Given the description of an element on the screen output the (x, y) to click on. 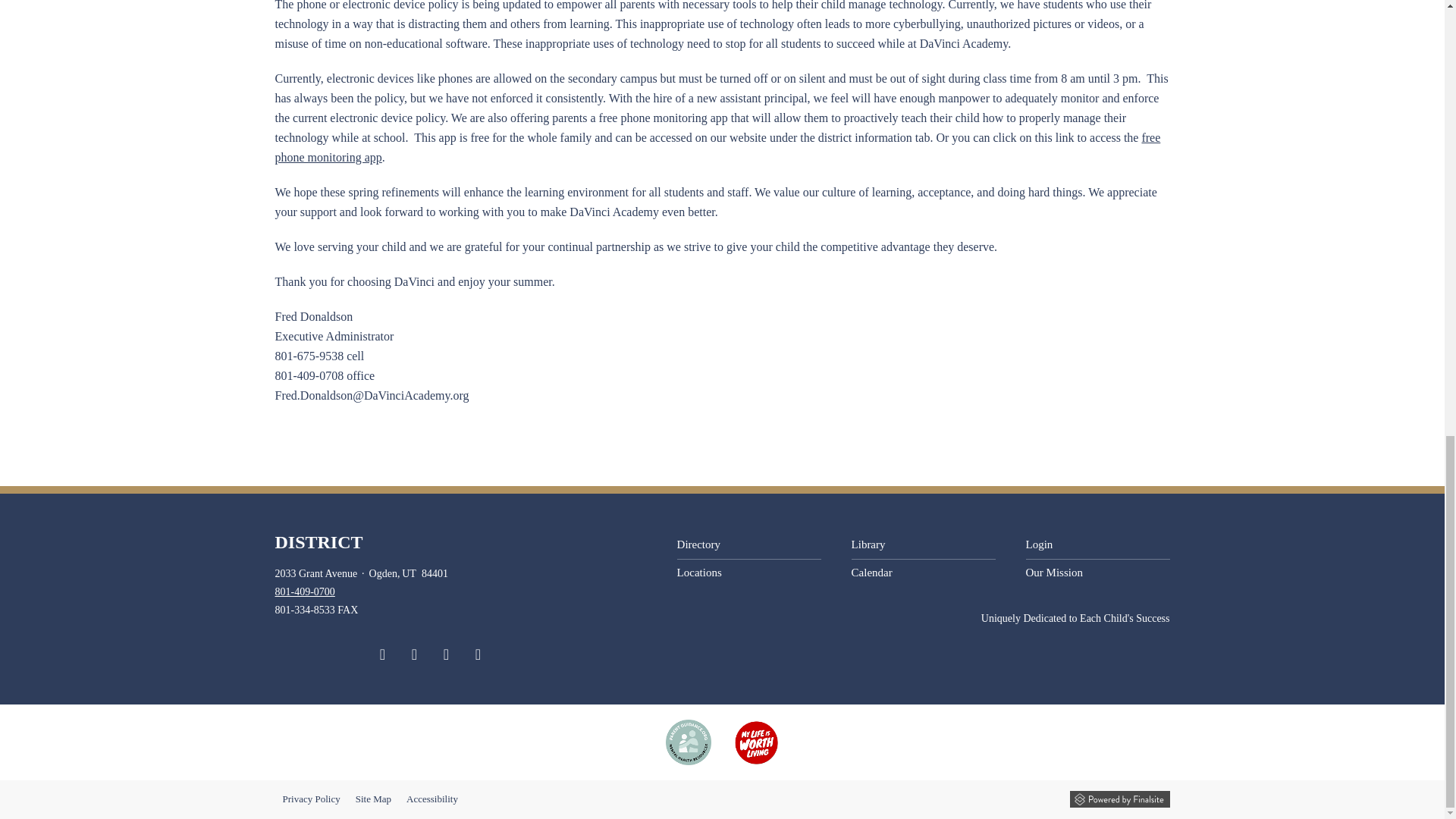
Powered by Finalsite opens in a new window (1118, 799)
